Given the description of an element on the screen output the (x, y) to click on. 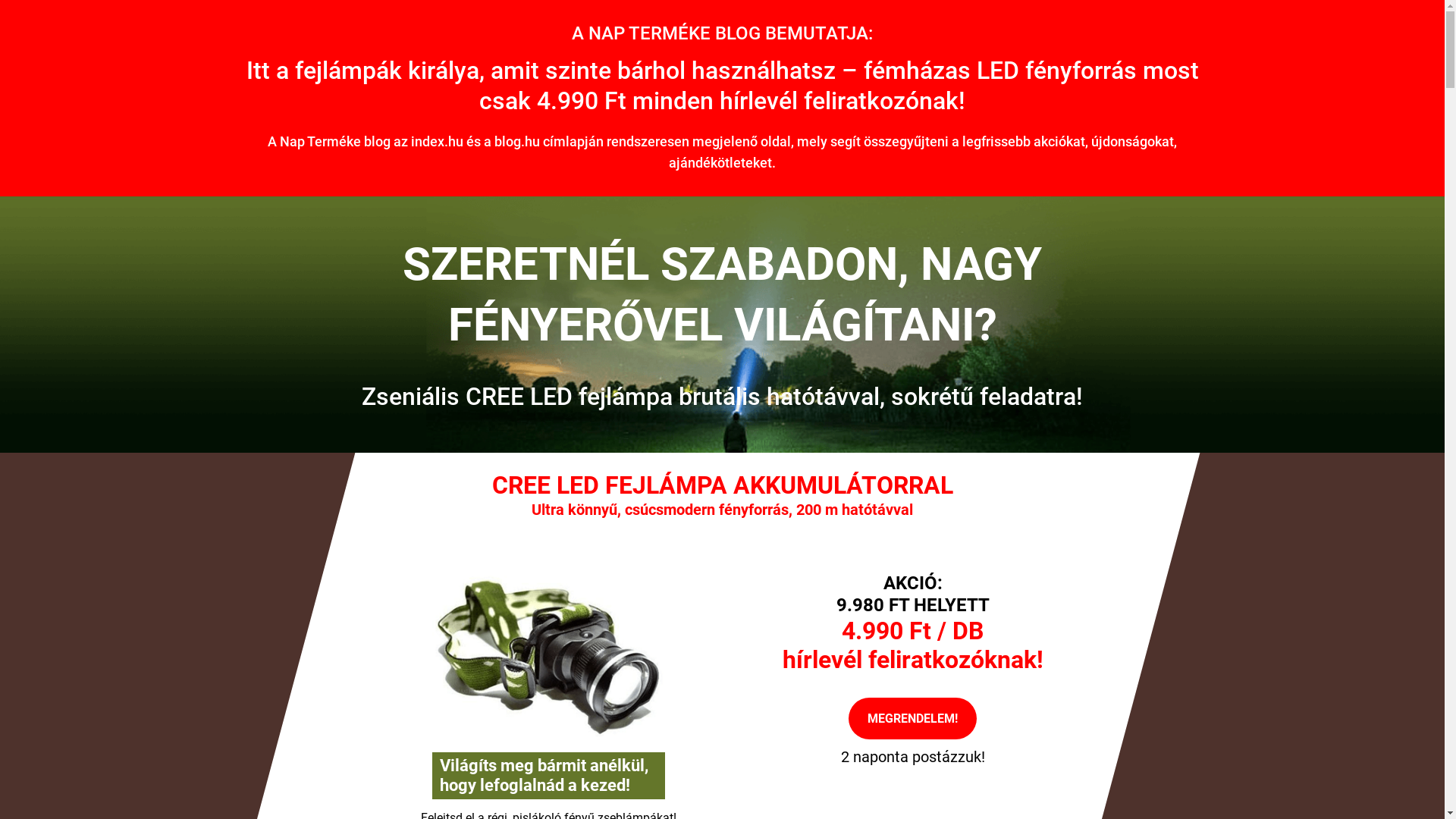
MEGRENDELEM! Element type: text (912, 718)
